Given the description of an element on the screen output the (x, y) to click on. 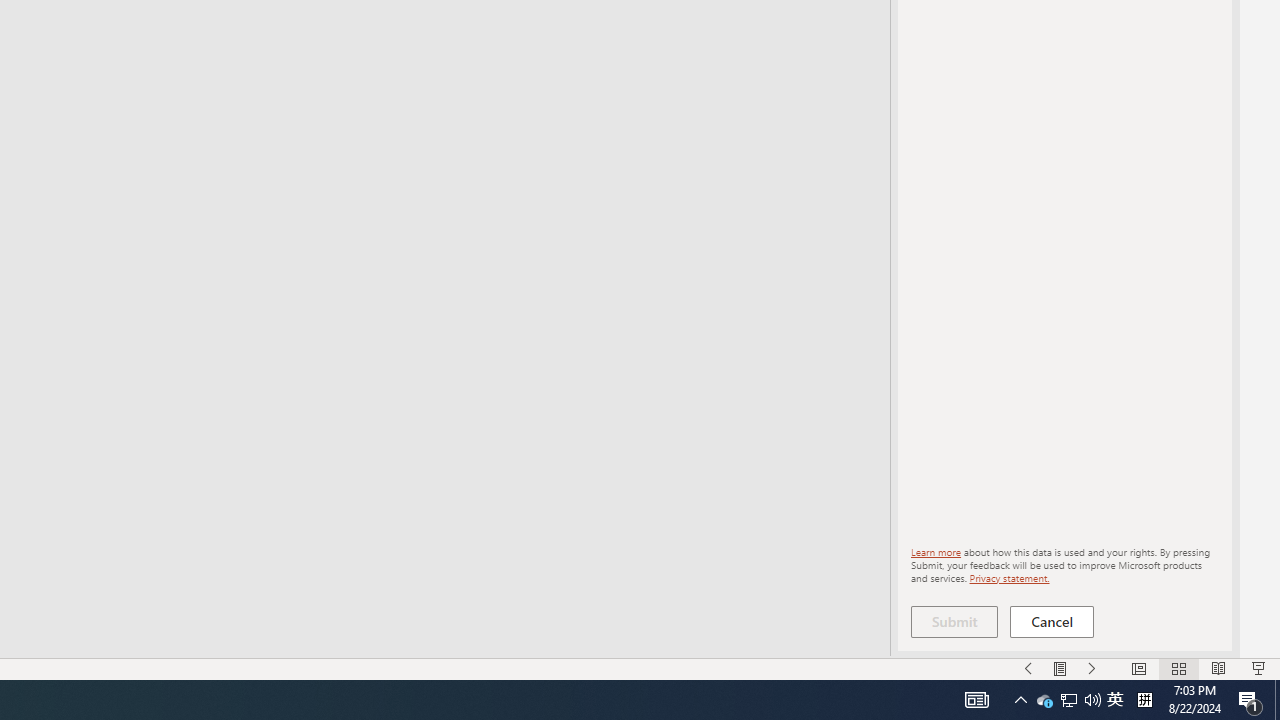
Submit (954, 621)
Menu On (1060, 668)
Slide Show Next On (1092, 668)
Slide Show Previous On (1028, 668)
Privacy statement. (1008, 577)
Learn more (936, 551)
